Given the description of an element on the screen output the (x, y) to click on. 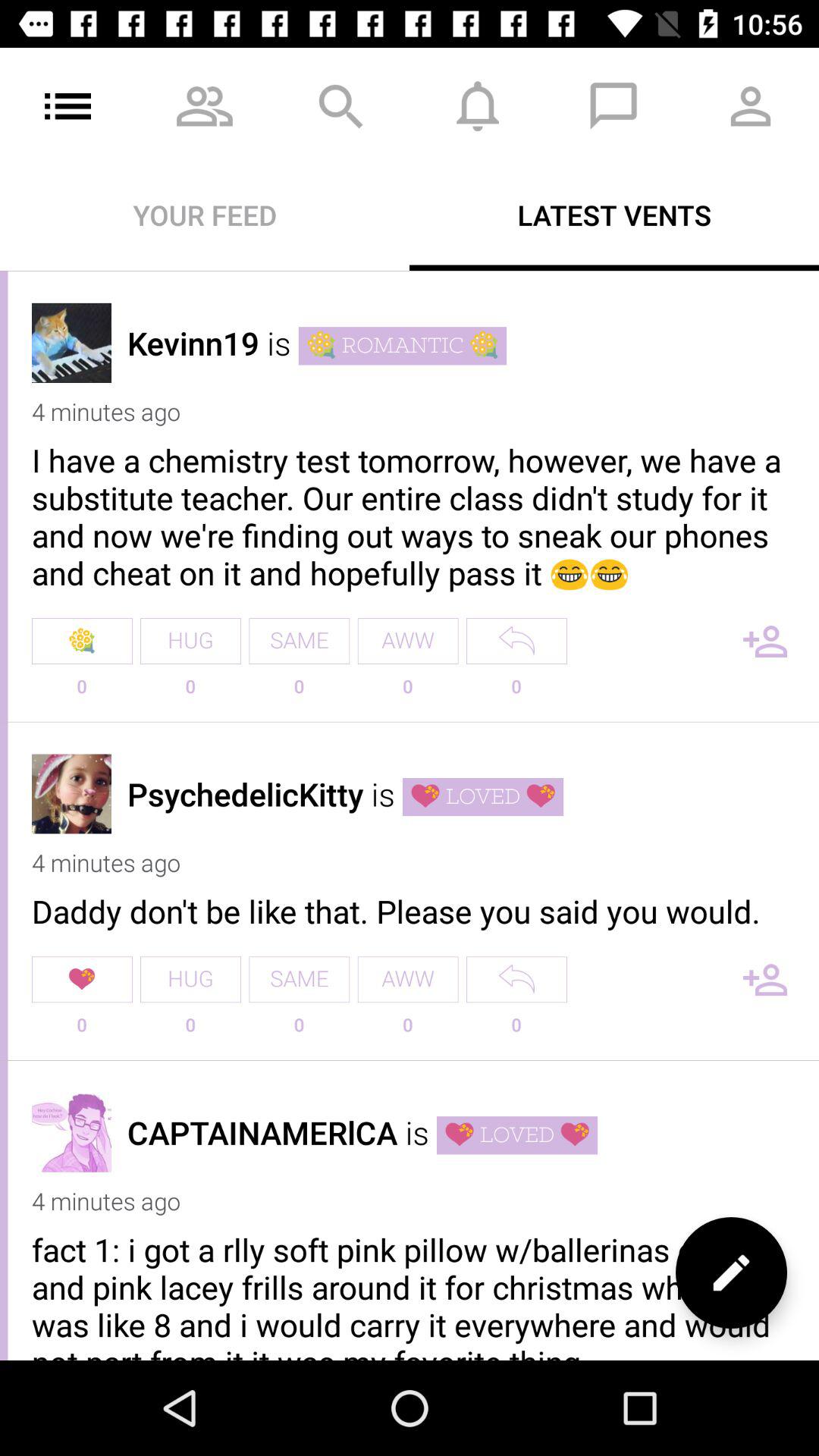
reply option (516, 979)
